Given the description of an element on the screen output the (x, y) to click on. 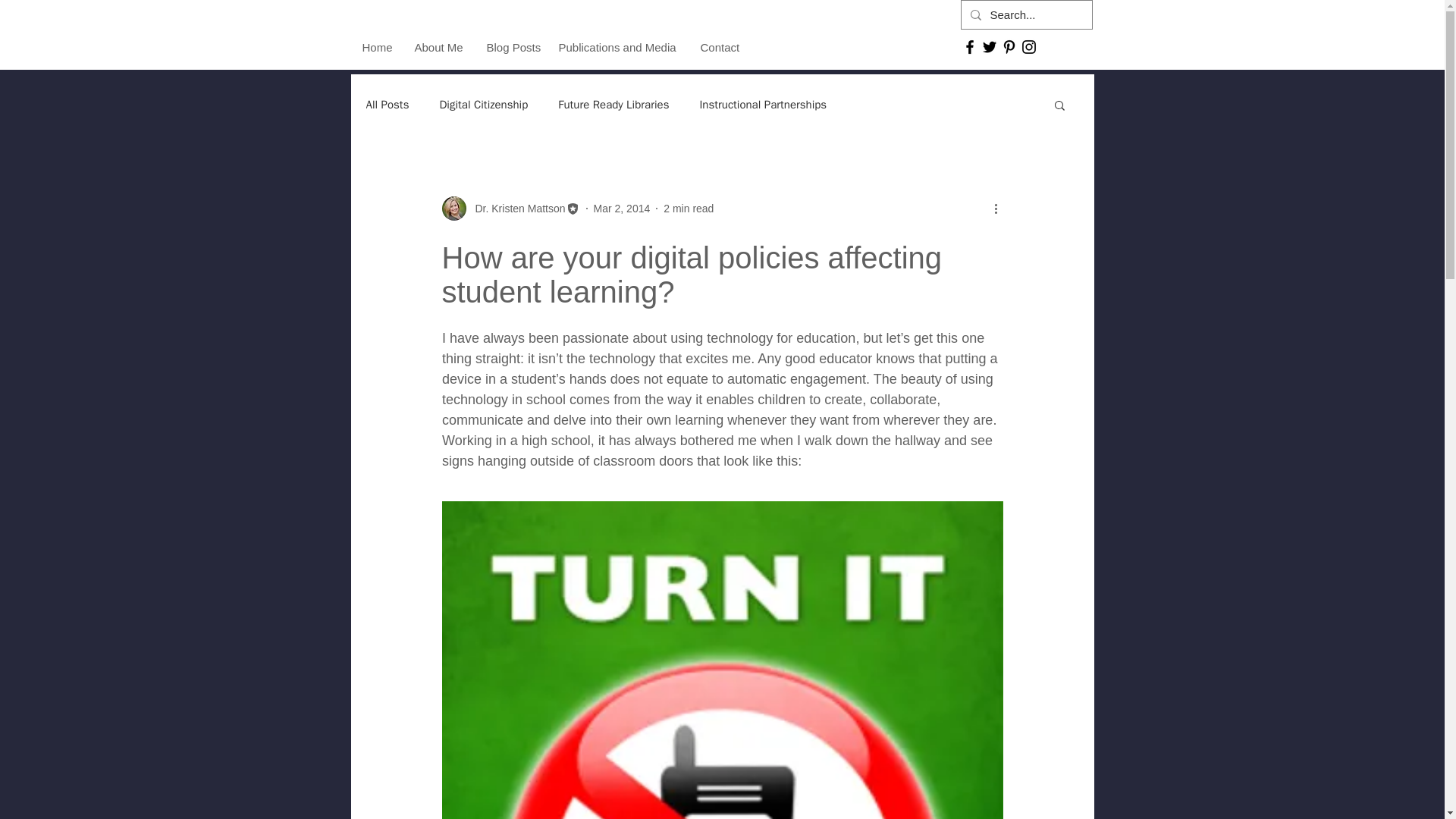
Dr. Kristen Mattson (514, 207)
Publications and Media (617, 47)
Instructional Partnerships (762, 104)
Mar 2, 2014 (622, 207)
2 min read (688, 207)
About Me (439, 47)
Digital Citizenship (483, 104)
Blog Posts (510, 47)
Future Ready Libraries (612, 104)
Contact (718, 47)
